Given the description of an element on the screen output the (x, y) to click on. 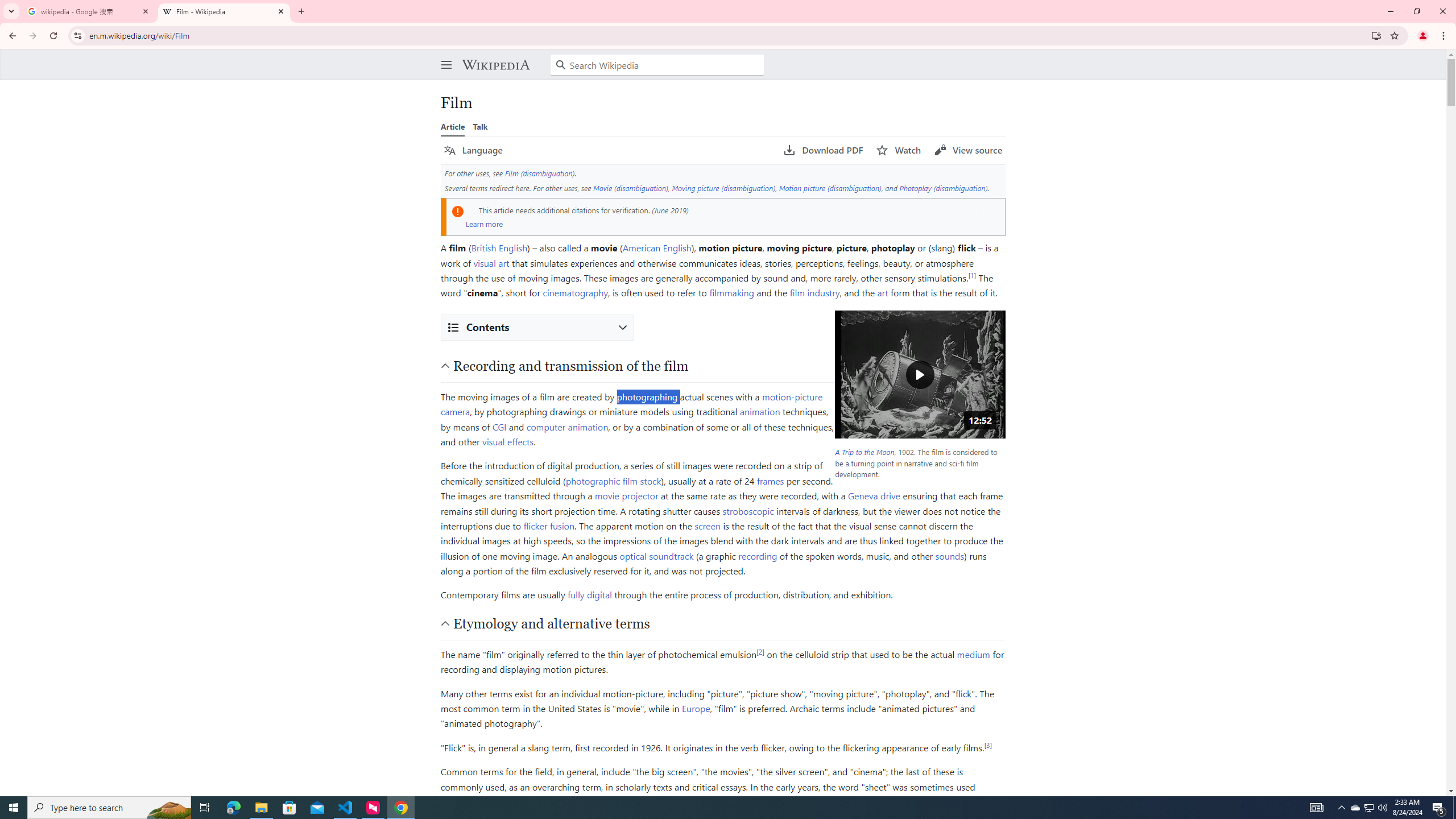
visual art (491, 262)
frames (770, 480)
optical soundtrack (656, 555)
movie projector (626, 495)
AutomationID: language-selector (606, 150)
[2] (760, 651)
motion-picture camera (630, 403)
Search Wikipedia (657, 64)
Geneva drive (873, 495)
View source (968, 149)
Motion picture (disambiguation) (829, 188)
